Given the description of an element on the screen output the (x, y) to click on. 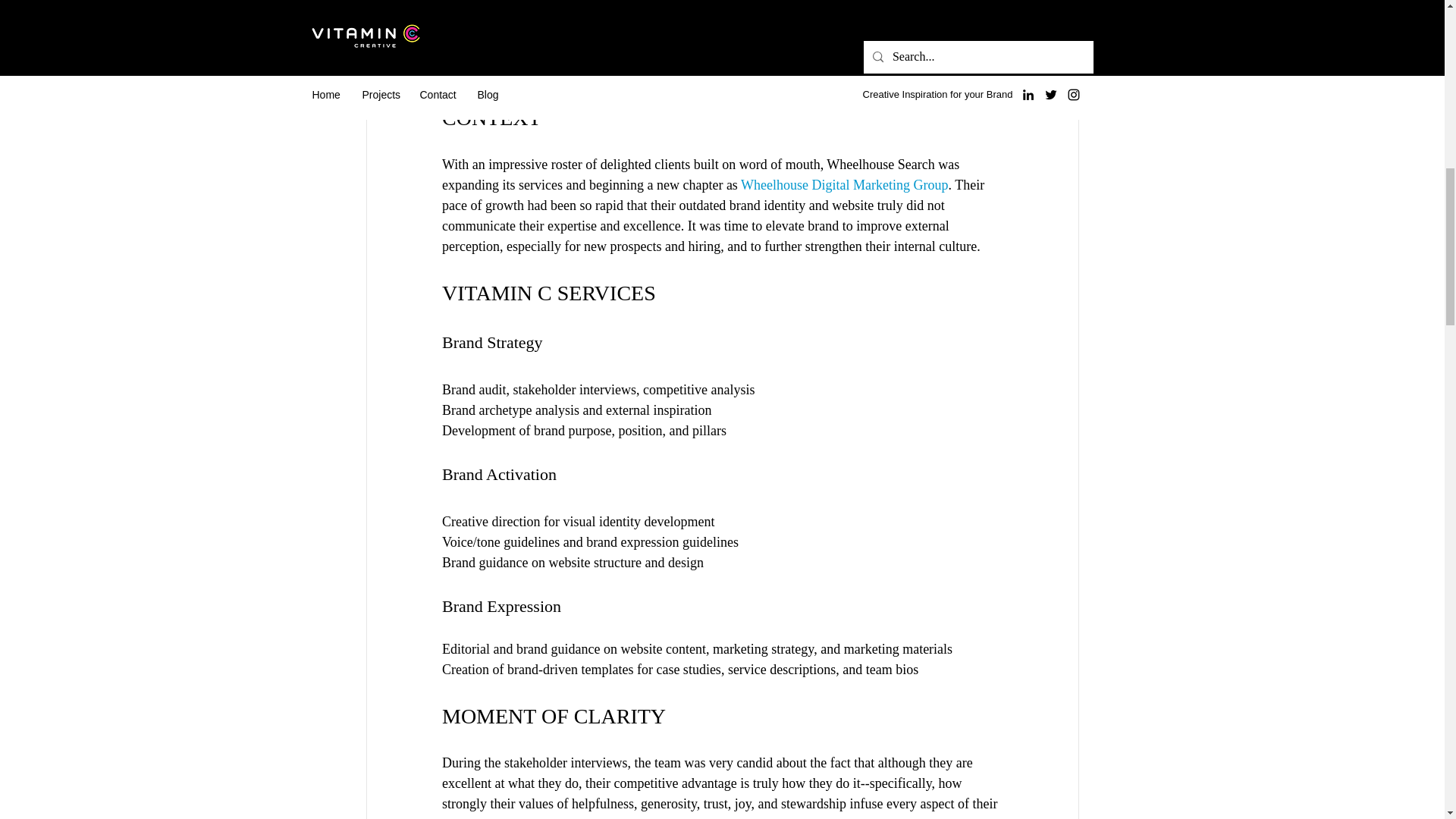
Wheelhouse Digital Marketing Group (844, 184)
